Given the description of an element on the screen output the (x, y) to click on. 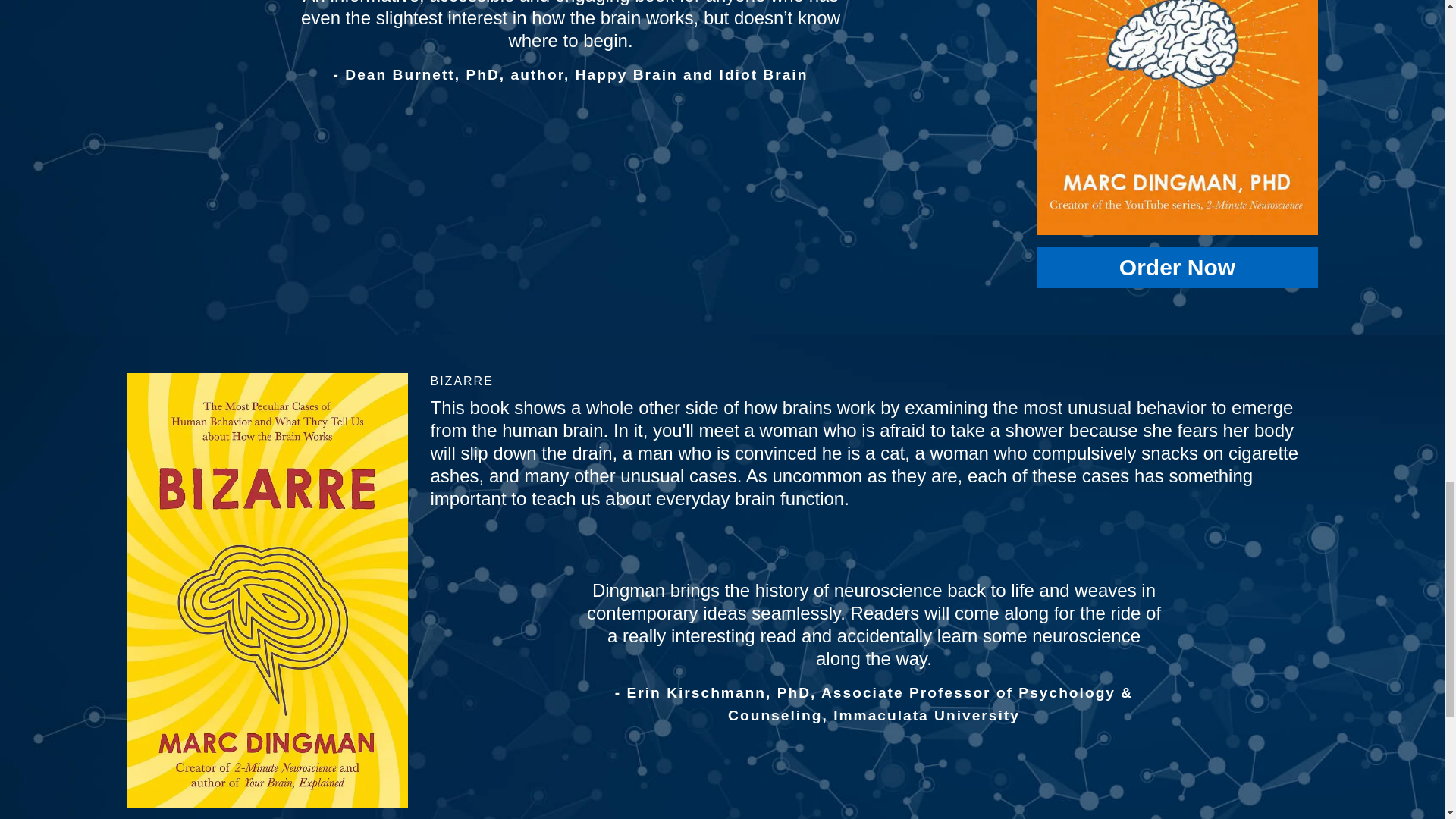
Previous Slide (139, 57)
Next Slide (1305, 675)
Previous Slide (442, 675)
Next Slide (1002, 57)
Order Now (1176, 267)
